Given the description of an element on the screen output the (x, y) to click on. 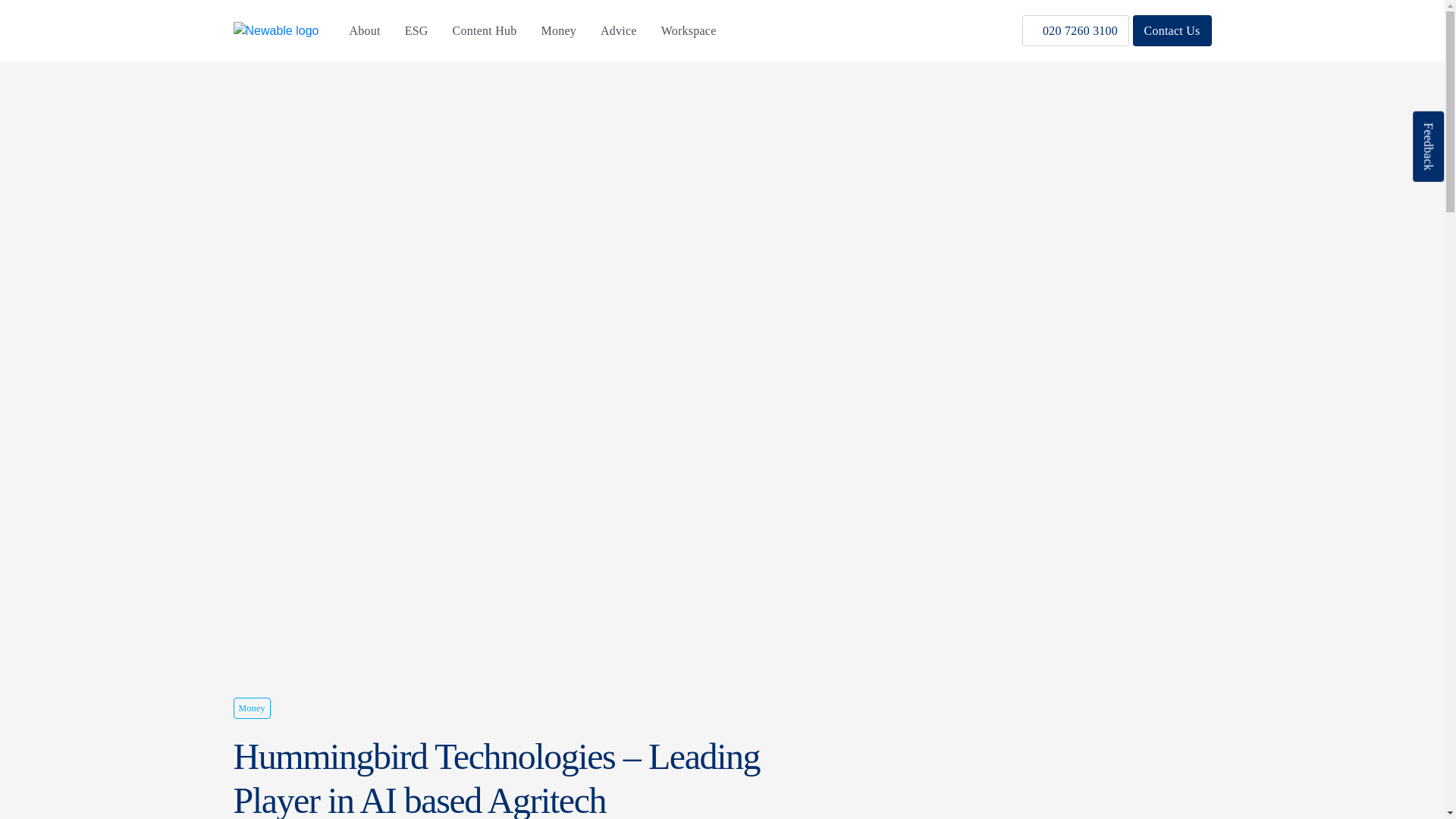
Advice (618, 30)
About (364, 30)
Content Hub (484, 30)
Money (558, 30)
020 7260 3100 (1075, 30)
Contact Us (1171, 30)
Workspace (688, 30)
Call 020 7260 3100 (1075, 30)
ESG (416, 30)
